Given the description of an element on the screen output the (x, y) to click on. 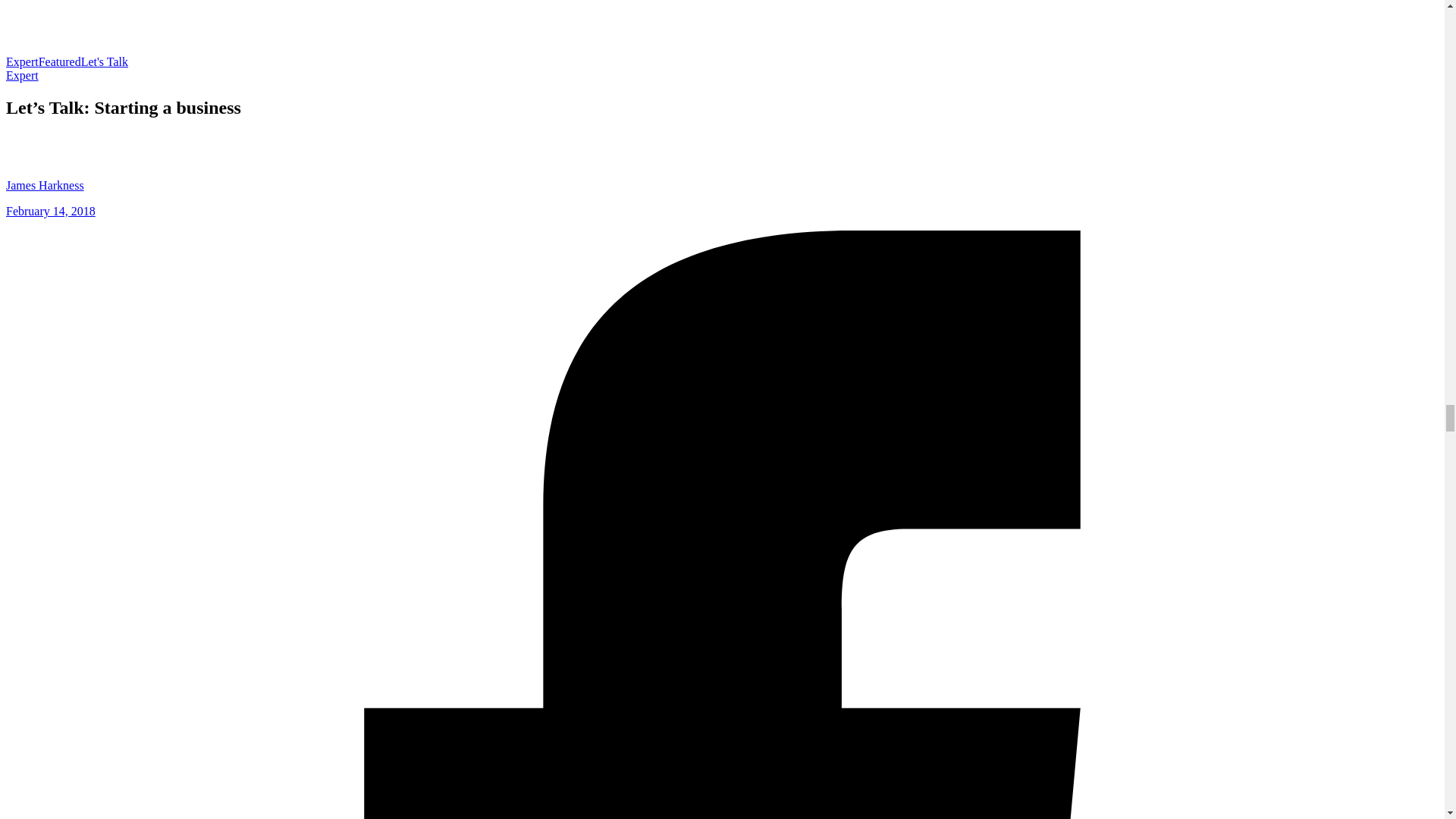
Featured (60, 61)
Expert (22, 61)
Expert (22, 74)
Let's Talk (104, 61)
